Given the description of an element on the screen output the (x, y) to click on. 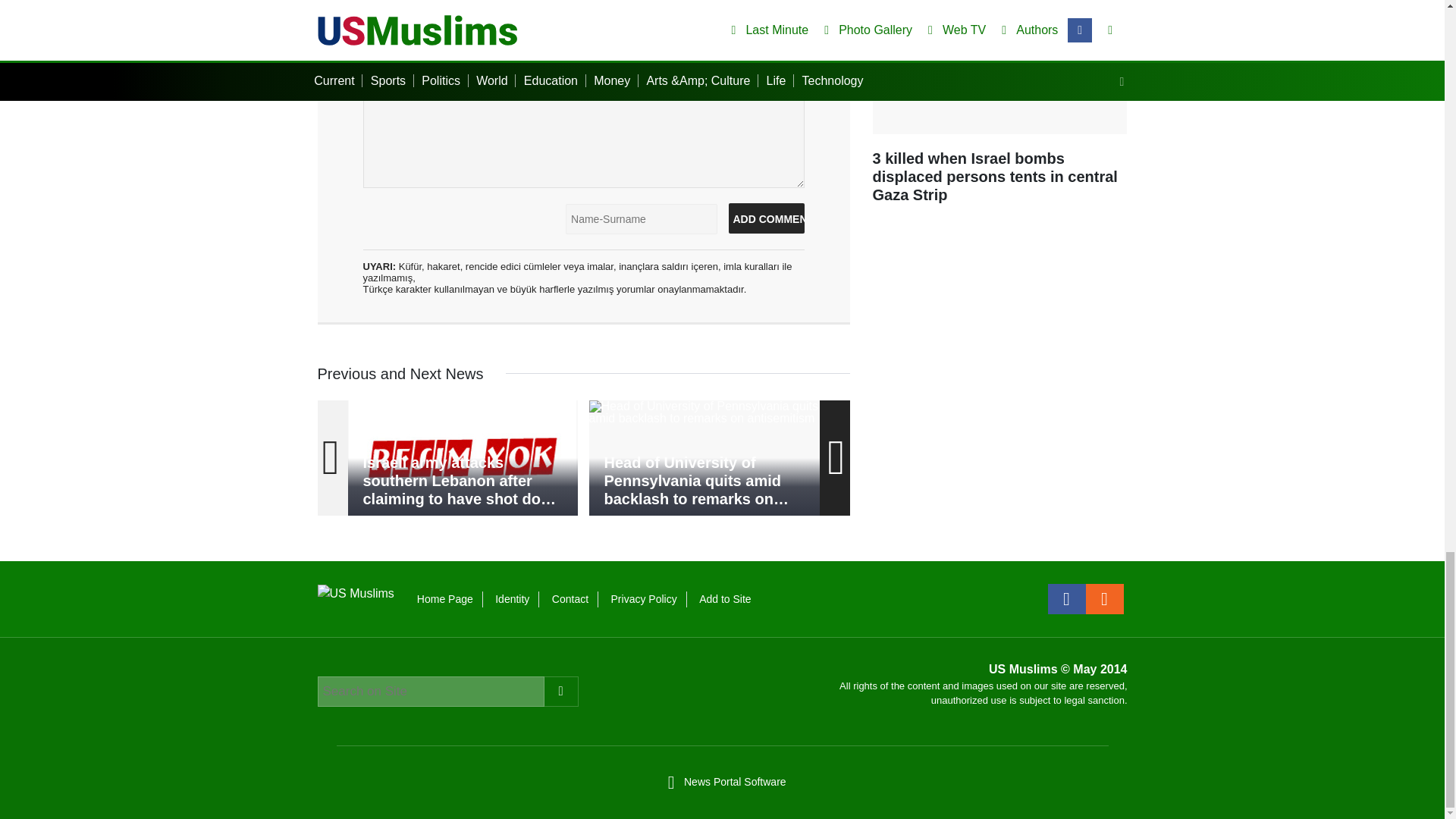
Home Page (444, 598)
US Muslims (355, 592)
Home Page (444, 598)
ADD COMMENT (765, 218)
ADD COMMENT (765, 218)
